Given the description of an element on the screen output the (x, y) to click on. 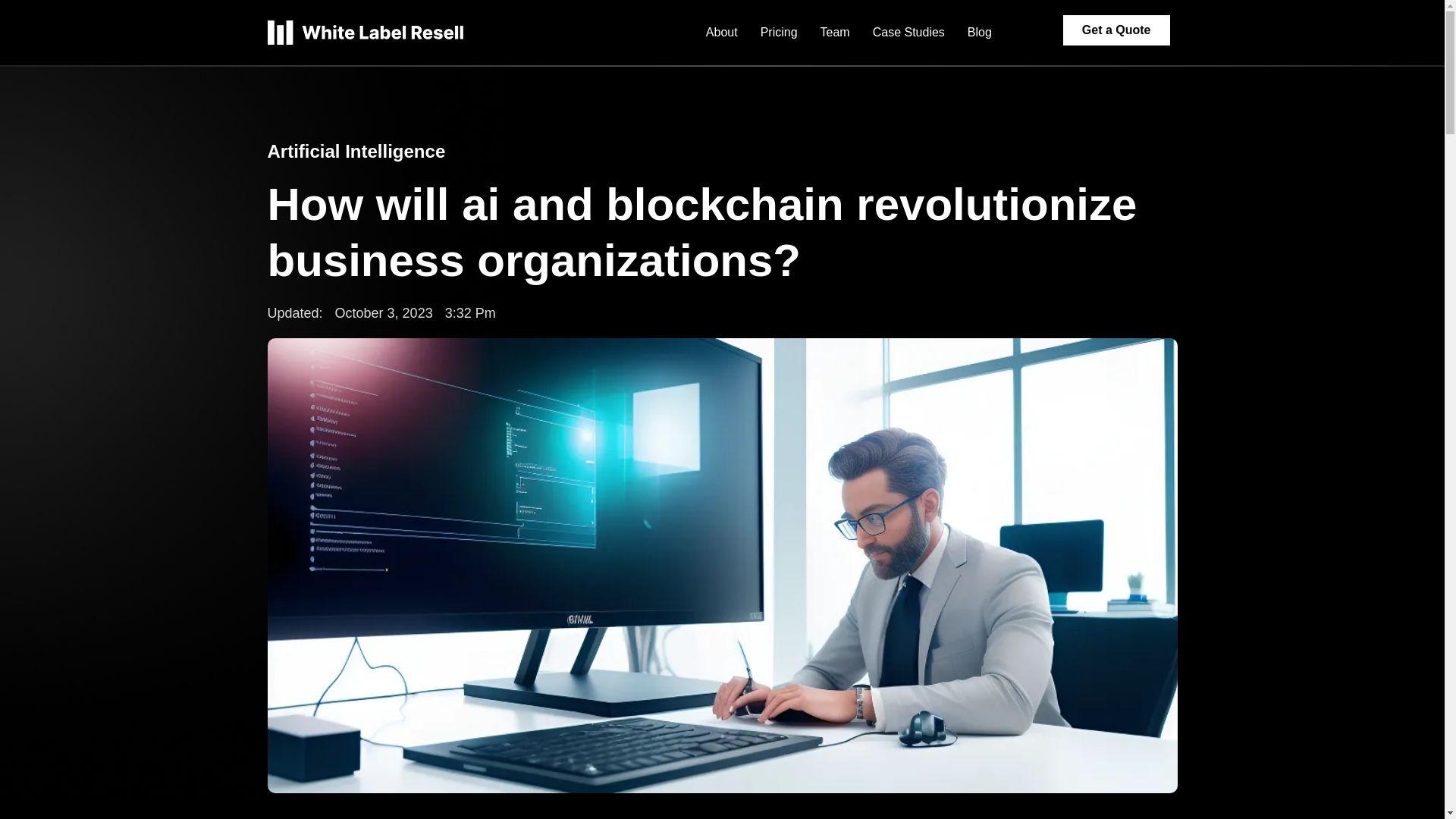
Get a Quote (1116, 30)
Team (835, 32)
Artificial Intelligence (355, 150)
About (721, 32)
Pricing (779, 32)
October 3, 2023 (383, 312)
Case Studies (908, 32)
Blog (979, 32)
